Given the description of an element on the screen output the (x, y) to click on. 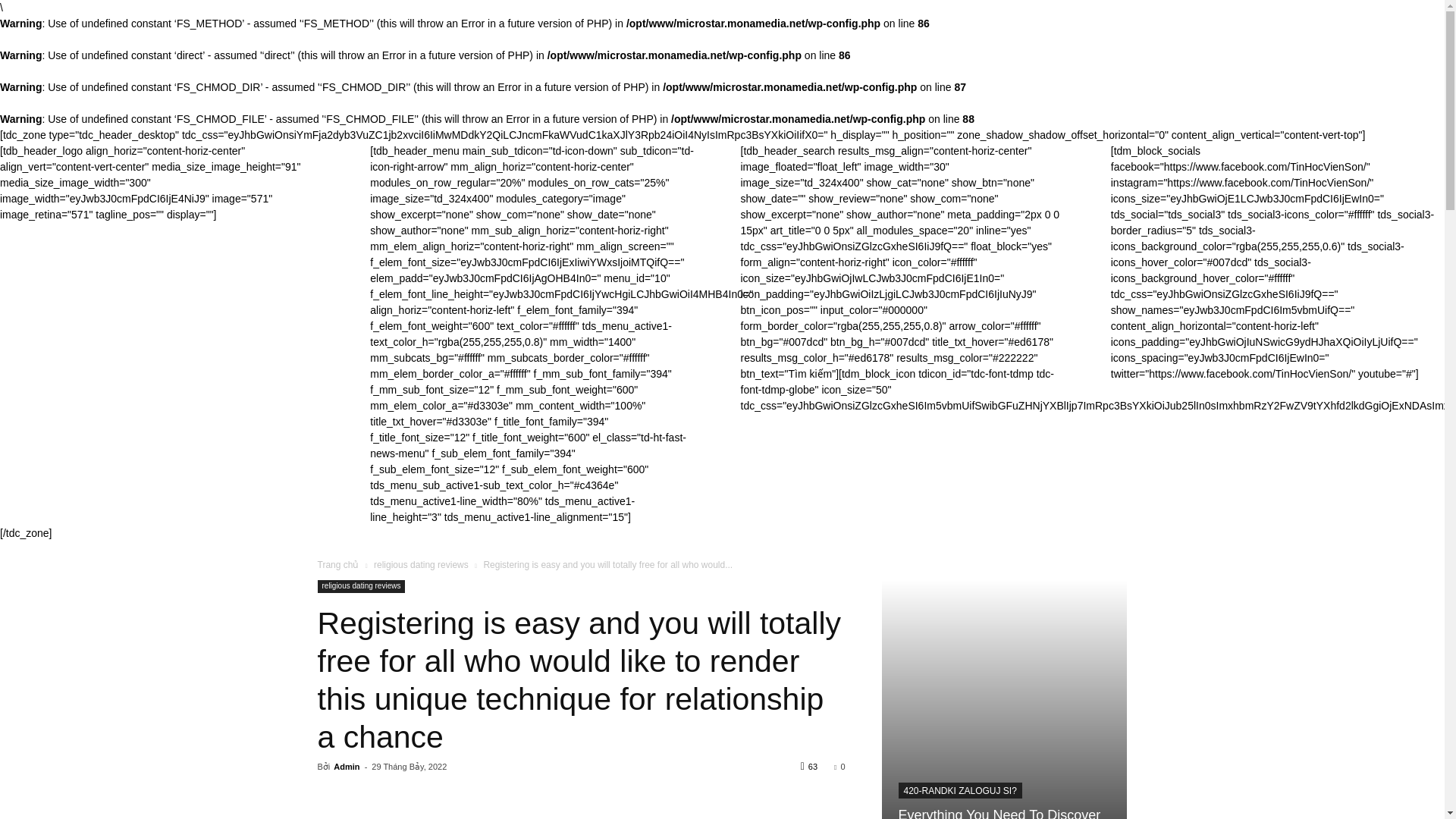
420-RANDKI ZALOGUJ SI? (960, 790)
0 (839, 766)
religious dating reviews (421, 564)
Admin (346, 766)
religious dating reviews (360, 585)
Everything You Need To Discover Ukranian Mail-Order Brides (999, 813)
Everything You Need To Discover Ukranian Mail-Order Brides (999, 813)
Everything You Need To Discover Ukranian Mail-Order Brides (1003, 699)
